Given the description of an element on the screen output the (x, y) to click on. 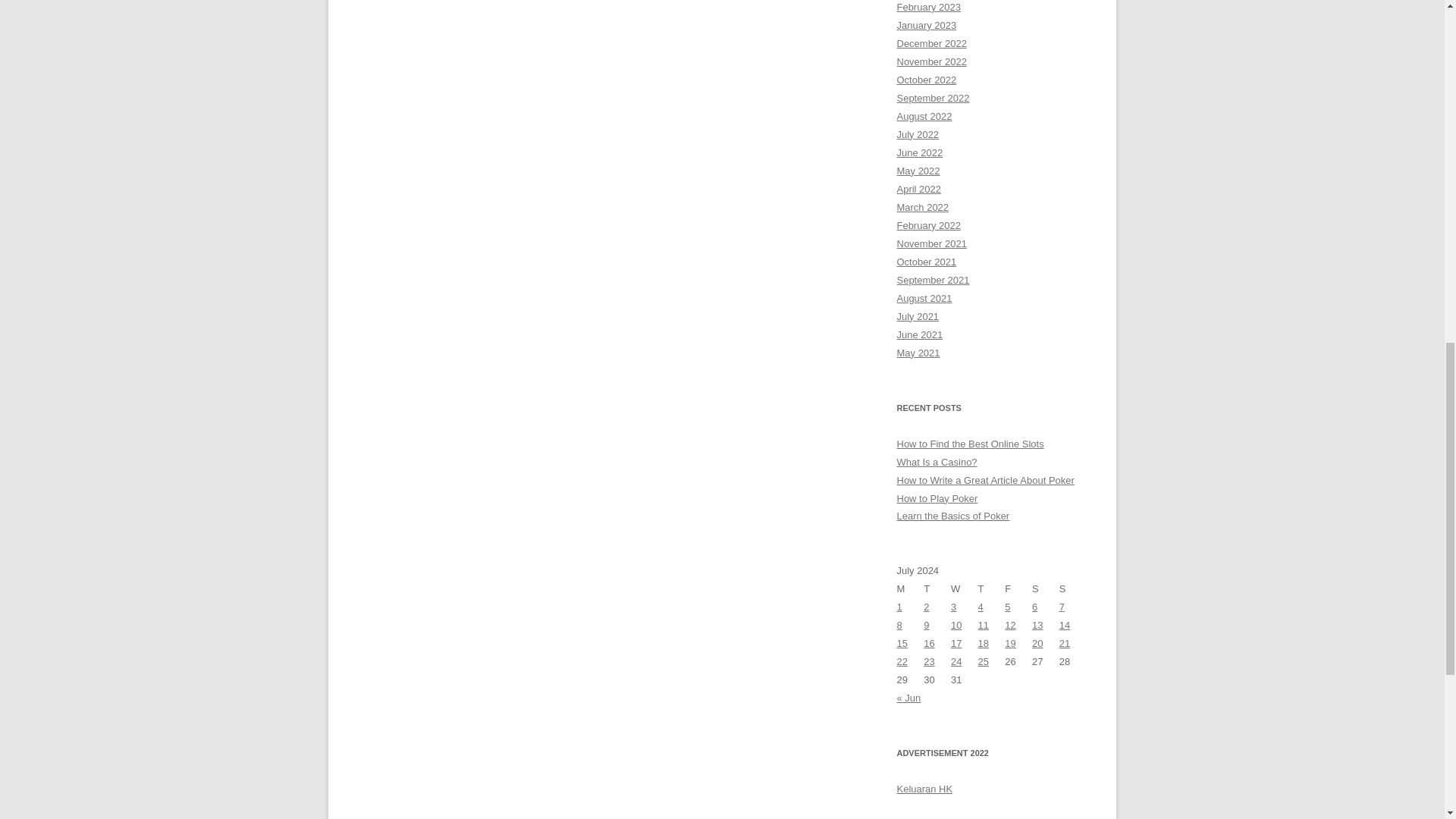
January 2023 (926, 25)
August 2022 (924, 116)
Thursday (992, 588)
September 2022 (932, 98)
Friday (1018, 588)
Saturday (1045, 588)
Wednesday (964, 588)
Monday (909, 588)
Tuesday (936, 588)
December 2022 (931, 43)
Sunday (1072, 588)
October 2022 (926, 79)
February 2023 (927, 7)
November 2022 (931, 61)
